Given the description of an element on the screen output the (x, y) to click on. 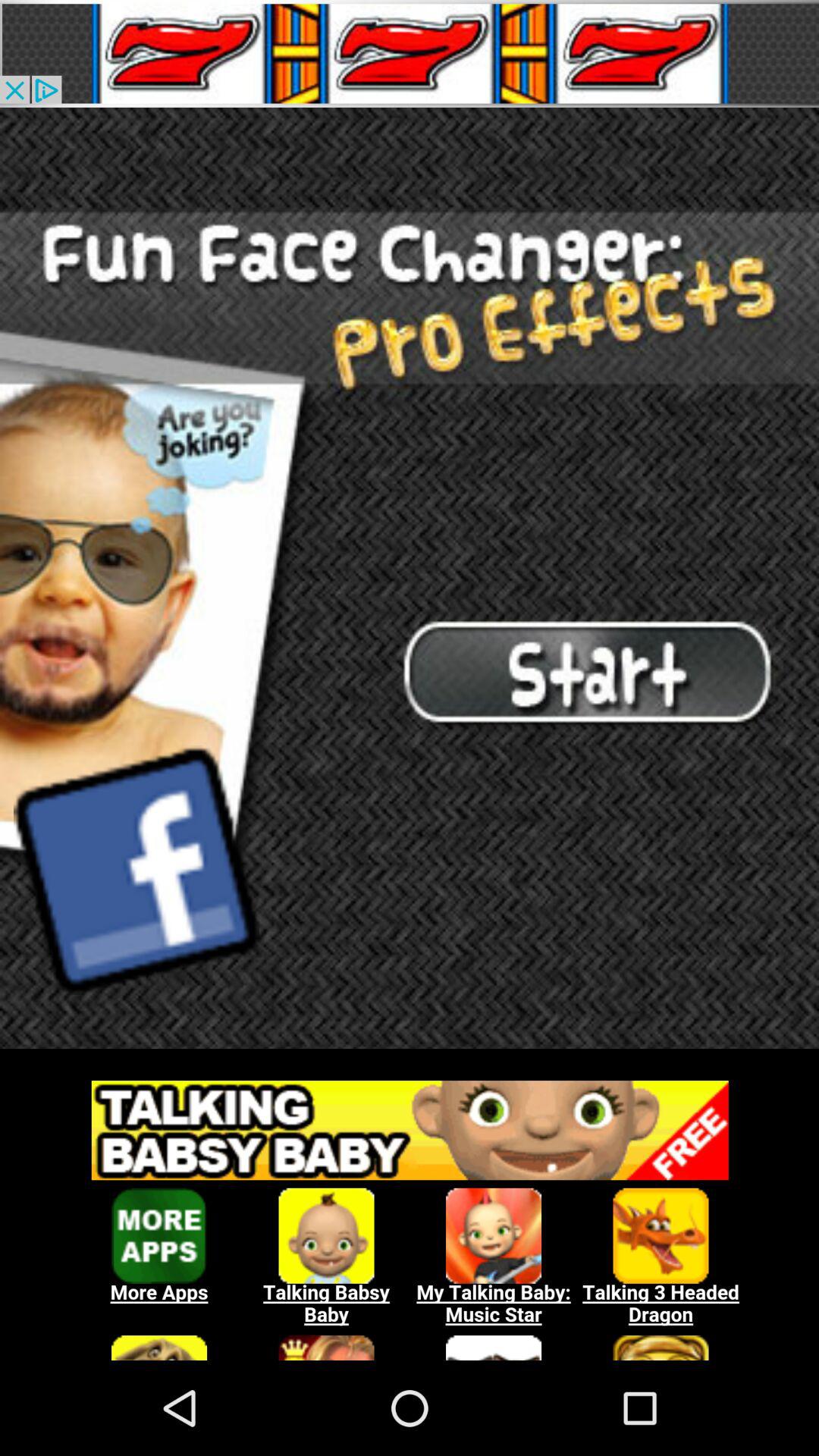
toggle advertisement (409, 577)
